Given the description of an element on the screen output the (x, y) to click on. 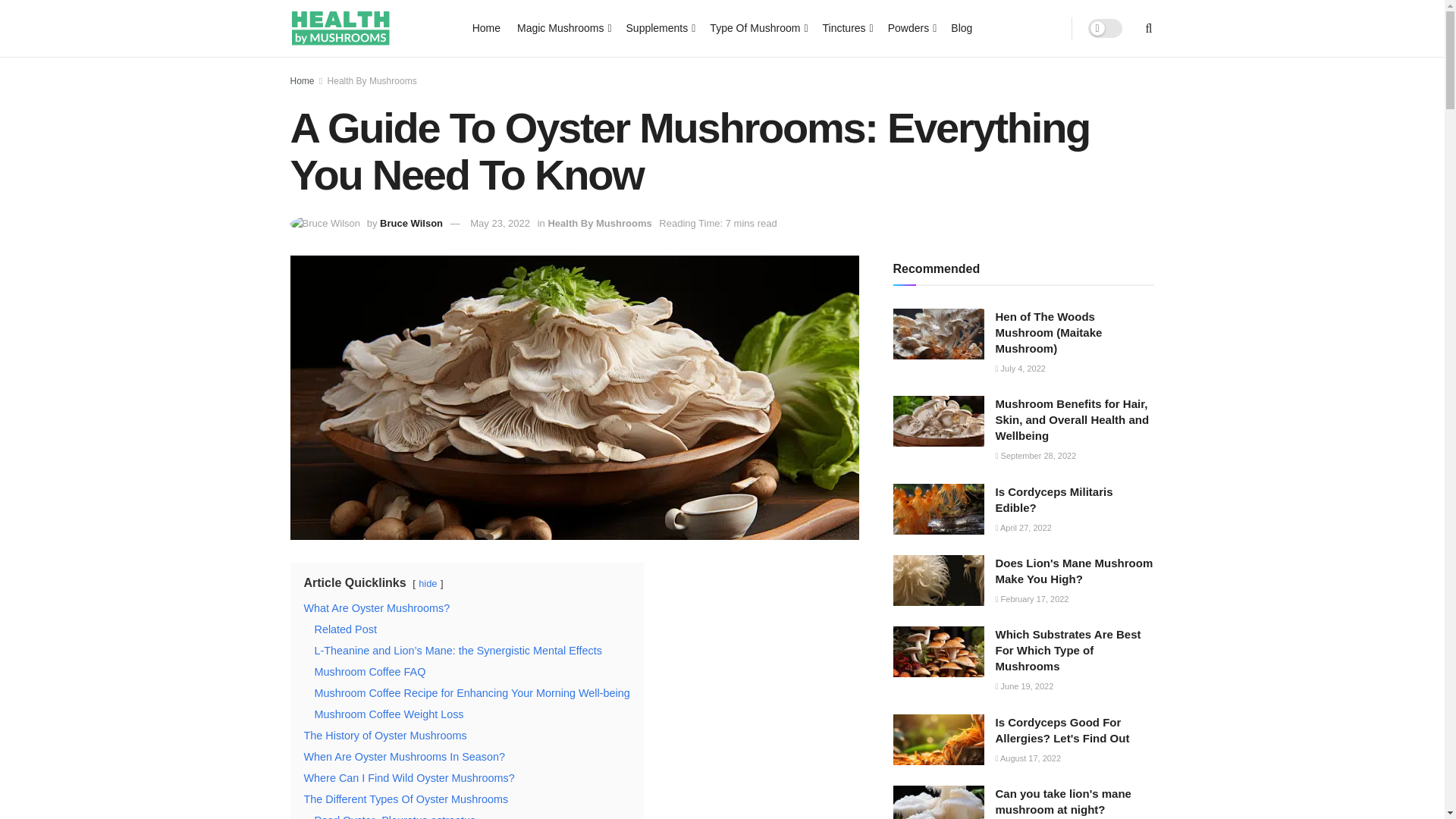
Type Of Mushroom (757, 27)
Supplements (660, 27)
Home (485, 27)
Magic Mushrooms (563, 27)
